Given the description of an element on the screen output the (x, y) to click on. 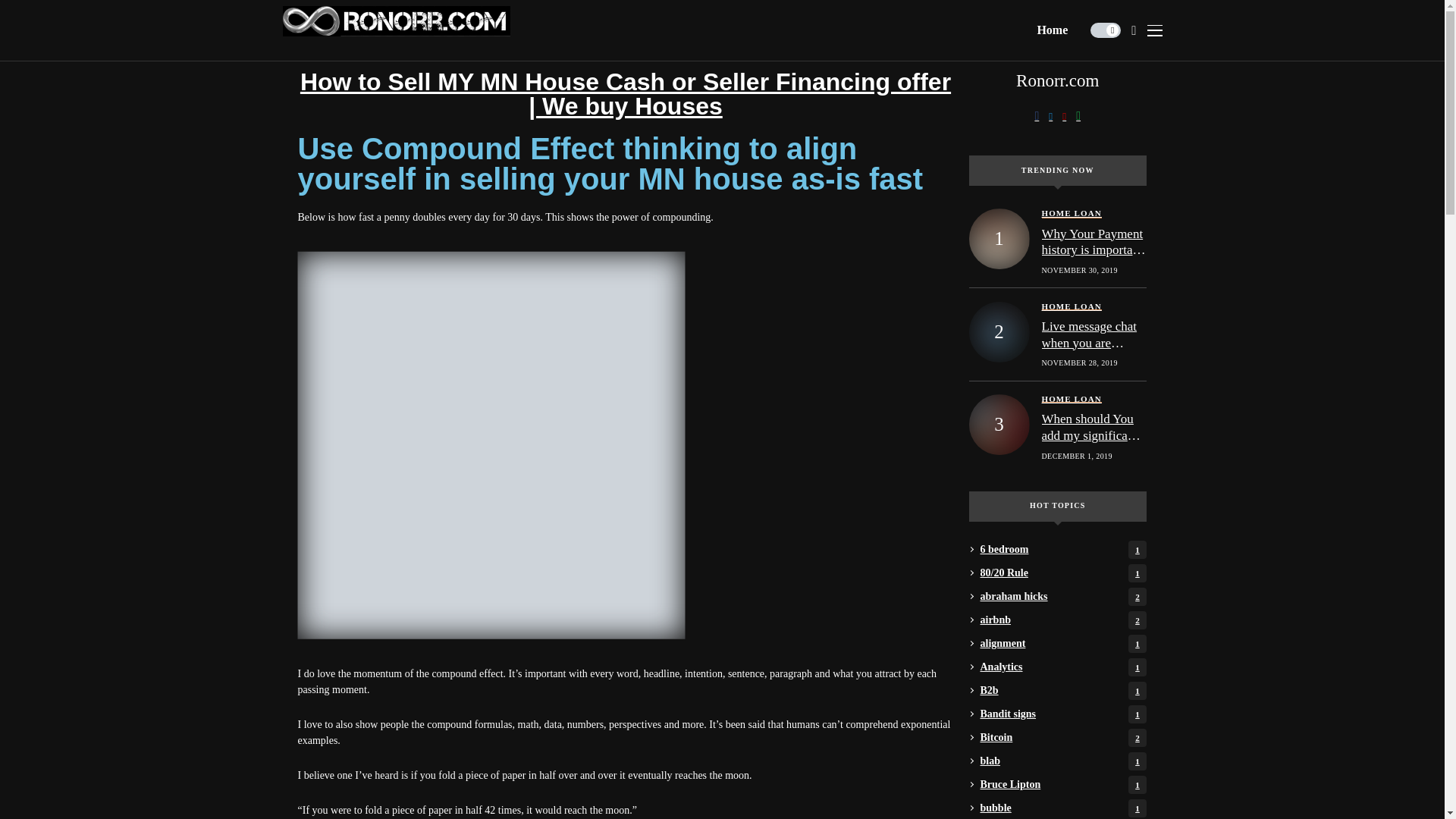
Live message chat when you are buying a Minnesota home (1062, 619)
HOME LOAN (1062, 549)
HOME LOAN (1062, 643)
HOME LOAN (1093, 351)
